Given the description of an element on the screen output the (x, y) to click on. 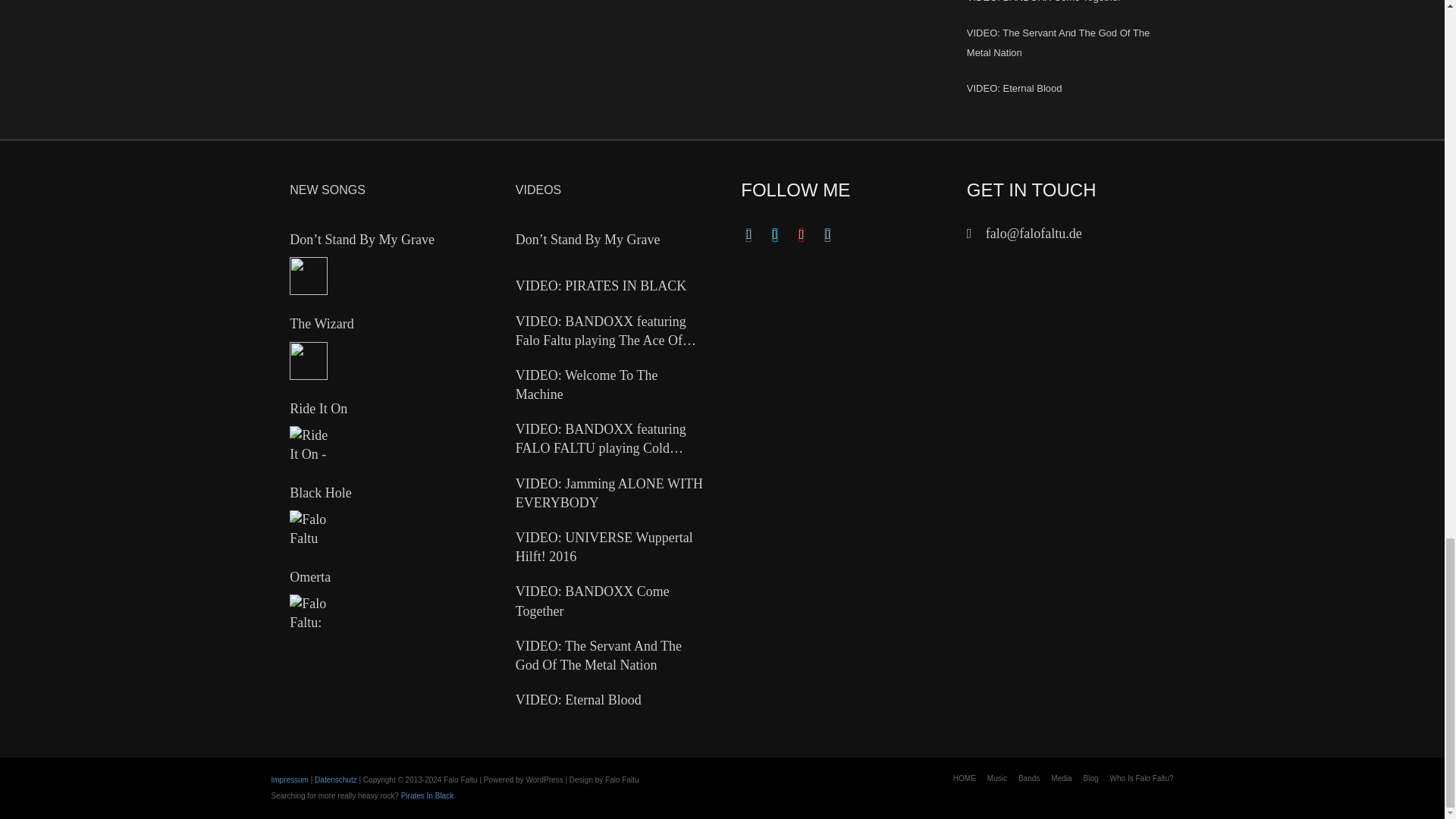
Omerta (308, 613)
Black Hole (308, 528)
The Wizard (308, 361)
Ride It On (308, 444)
